Given the description of an element on the screen output the (x, y) to click on. 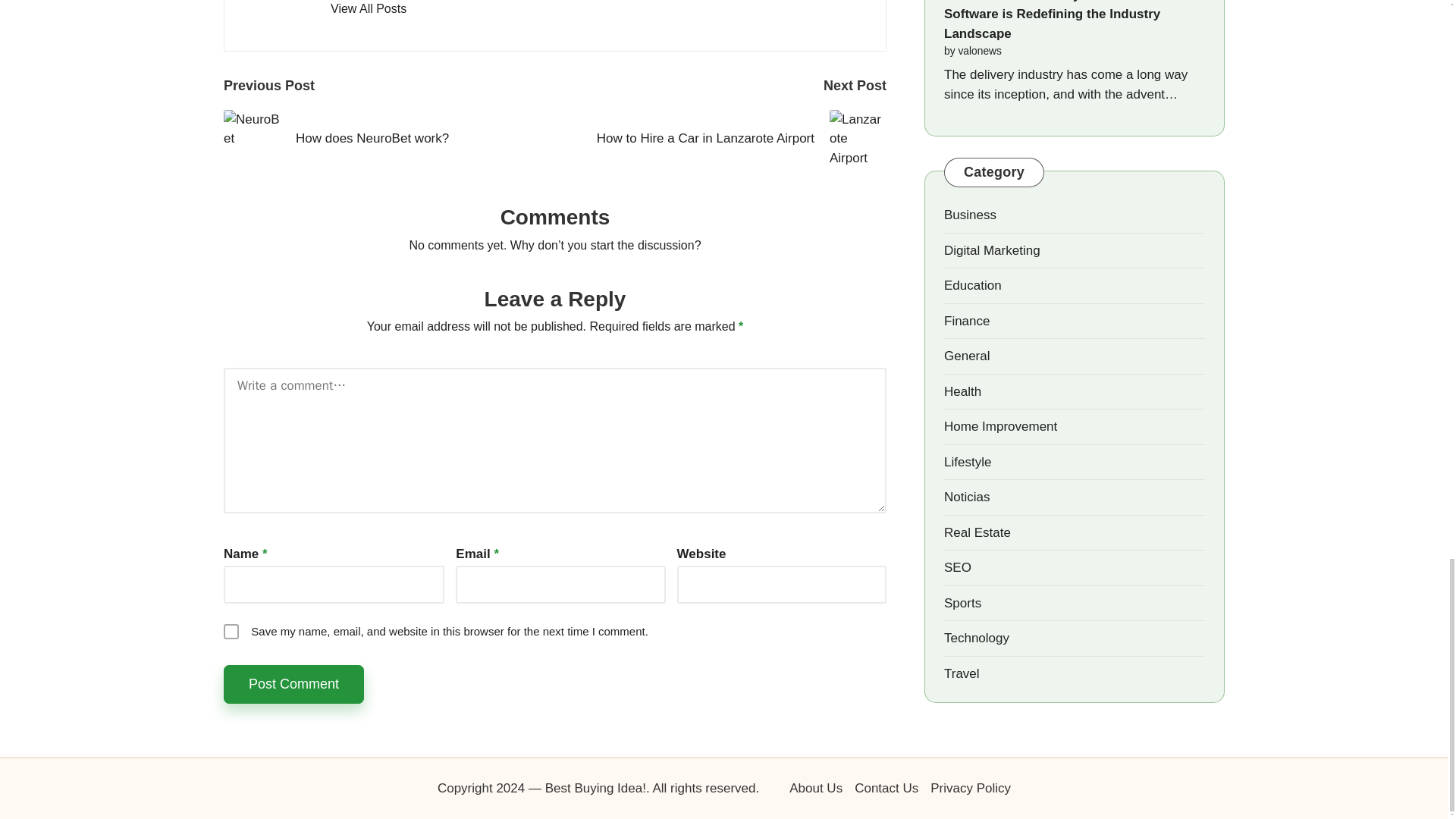
How does NeuroBet work? (389, 138)
yes (231, 631)
Post Comment (294, 684)
How to Hire a Car in Lanzarote Airport (720, 138)
Post Comment (294, 684)
View All Posts (368, 9)
